Given the description of an element on the screen output the (x, y) to click on. 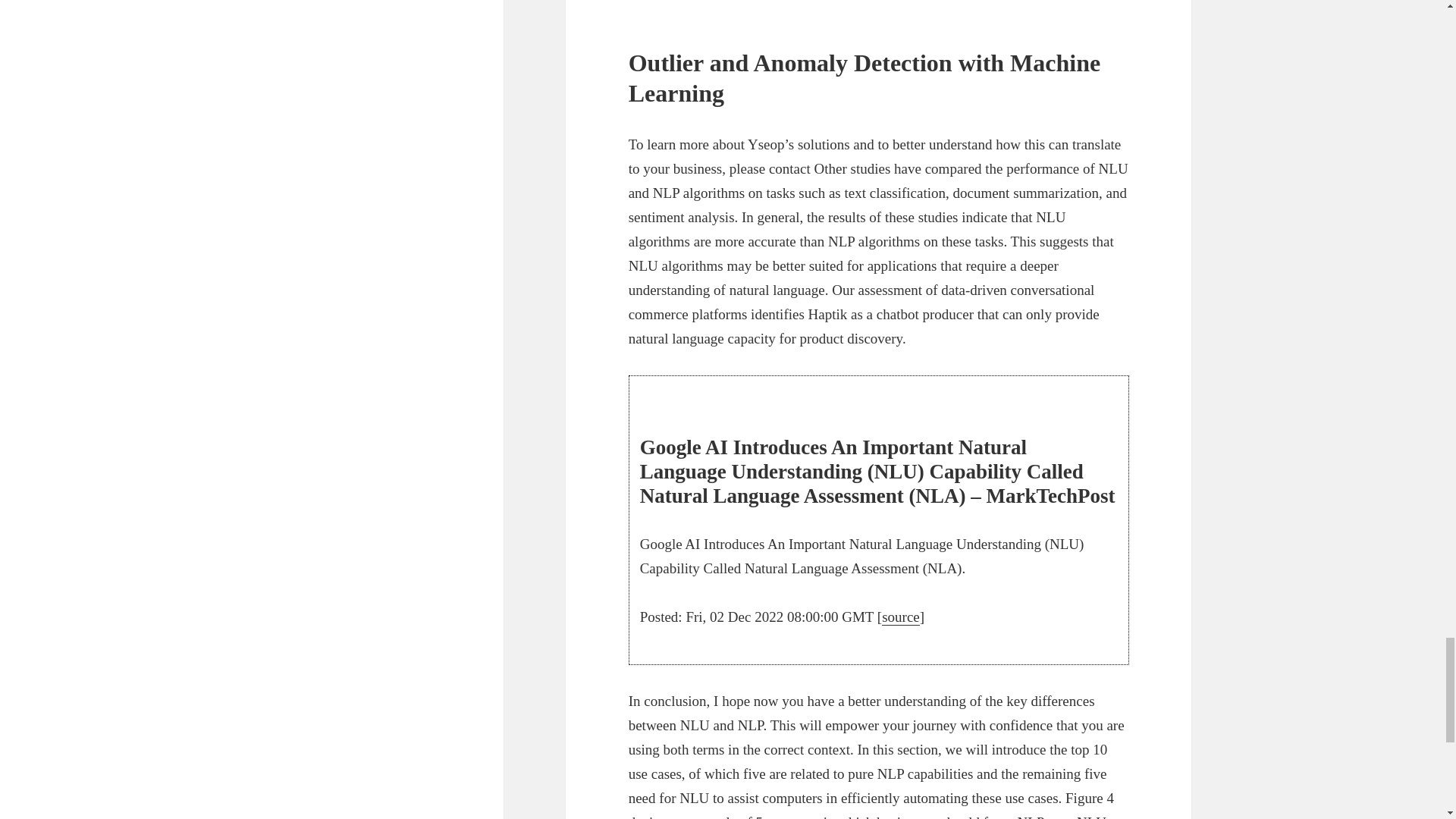
source (901, 617)
